Given the description of an element on the screen output the (x, y) to click on. 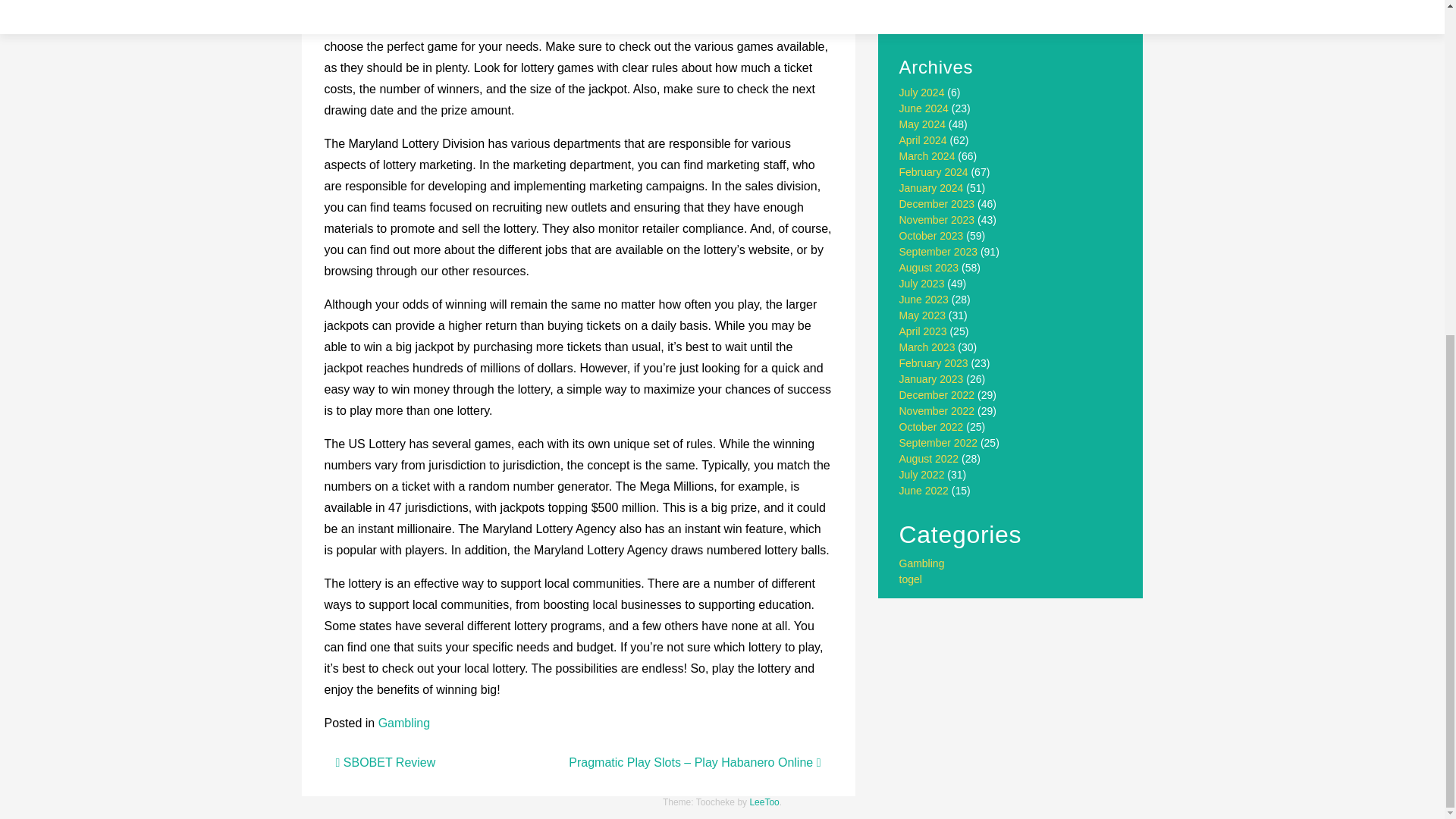
February 2023 (933, 363)
February 2024 (933, 172)
January 2024 (931, 187)
September 2022 (938, 442)
 SBOBET Review (384, 762)
April 2024 (923, 140)
June 2022 (924, 490)
May 2023 (921, 315)
November 2023 (937, 219)
August 2022 (929, 458)
December 2023 (937, 203)
September 2023 (938, 251)
June 2023 (924, 299)
October 2023 (931, 235)
December 2022 (937, 395)
